Given the description of an element on the screen output the (x, y) to click on. 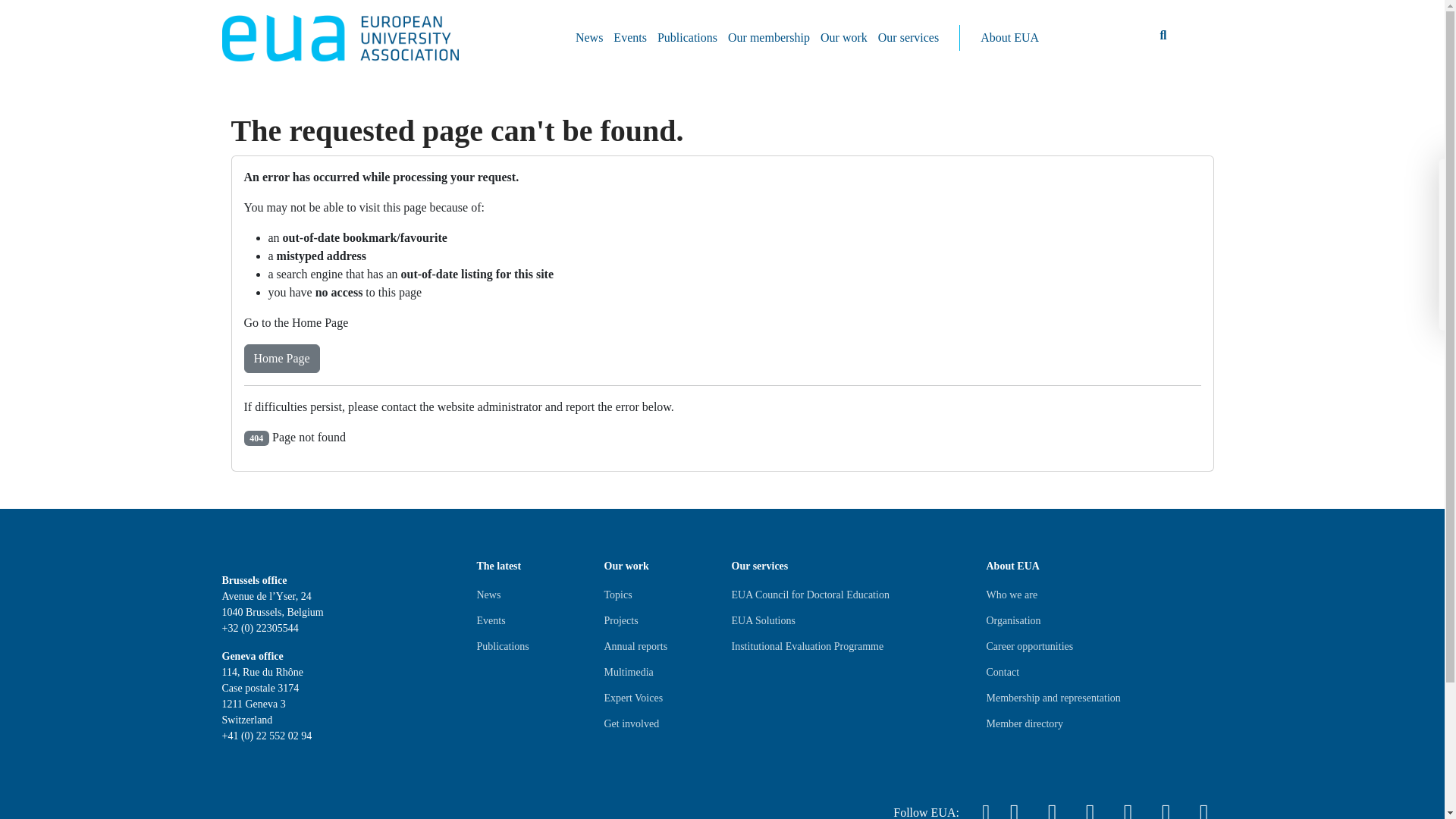
Multimedia (628, 672)
Our work (843, 37)
EUA Facebook (1089, 806)
News (488, 595)
About EUA (1009, 37)
News (589, 37)
Our services (907, 37)
EUA Linkedin (1051, 806)
EUA Spotify (1166, 806)
Projects (620, 620)
Expert Voices (633, 698)
Topics (617, 595)
Publications (502, 646)
EUA Solutions (762, 620)
Publications (687, 37)
